Given the description of an element on the screen output the (x, y) to click on. 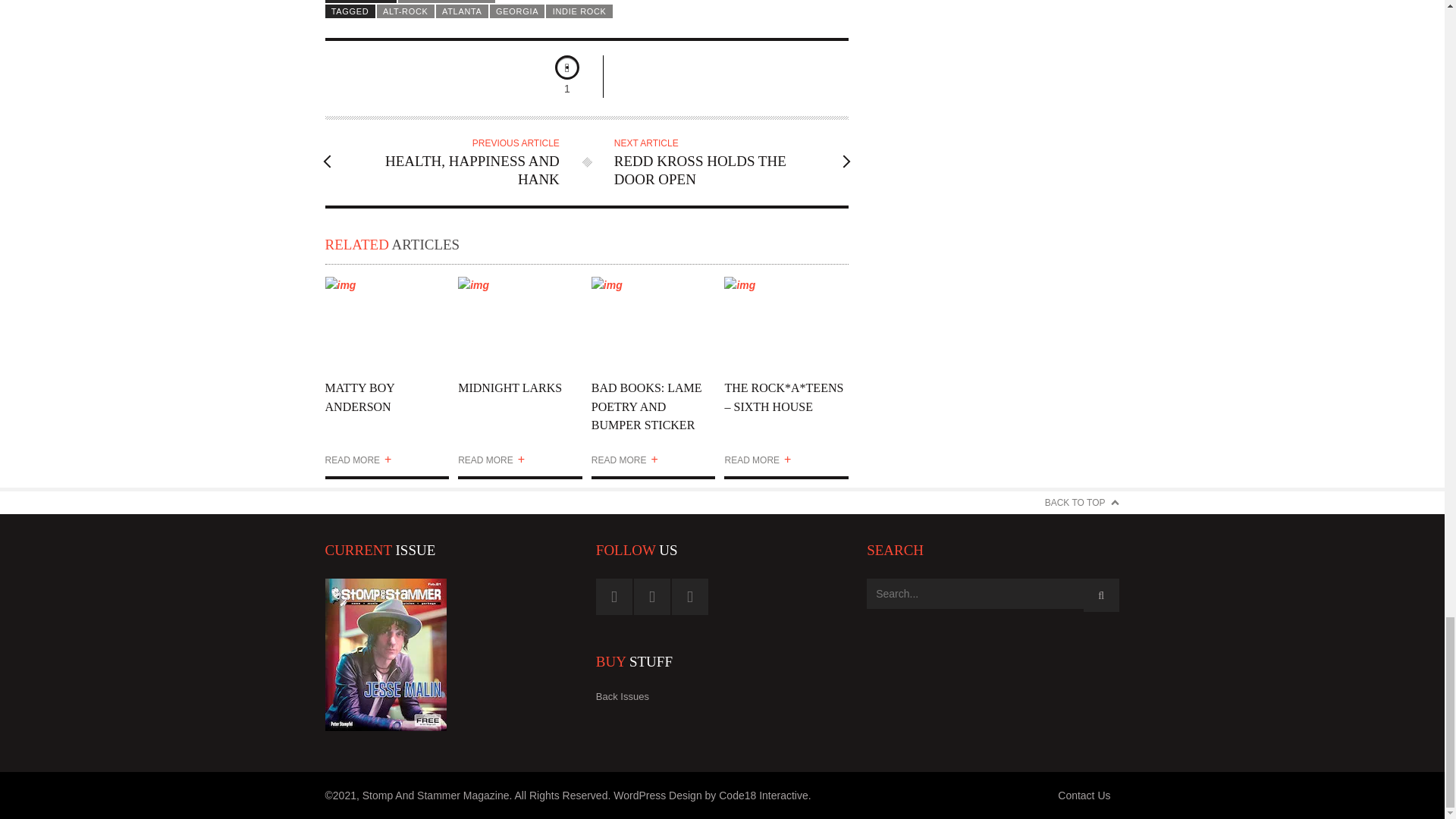
View all posts tagged Atlanta (461, 11)
View all posts tagged Alt-Rock (405, 11)
View all posts in Feature Stories (446, 1)
View all posts tagged Indie Rock (578, 11)
View all posts tagged Georgia (516, 11)
